Given the description of an element on the screen output the (x, y) to click on. 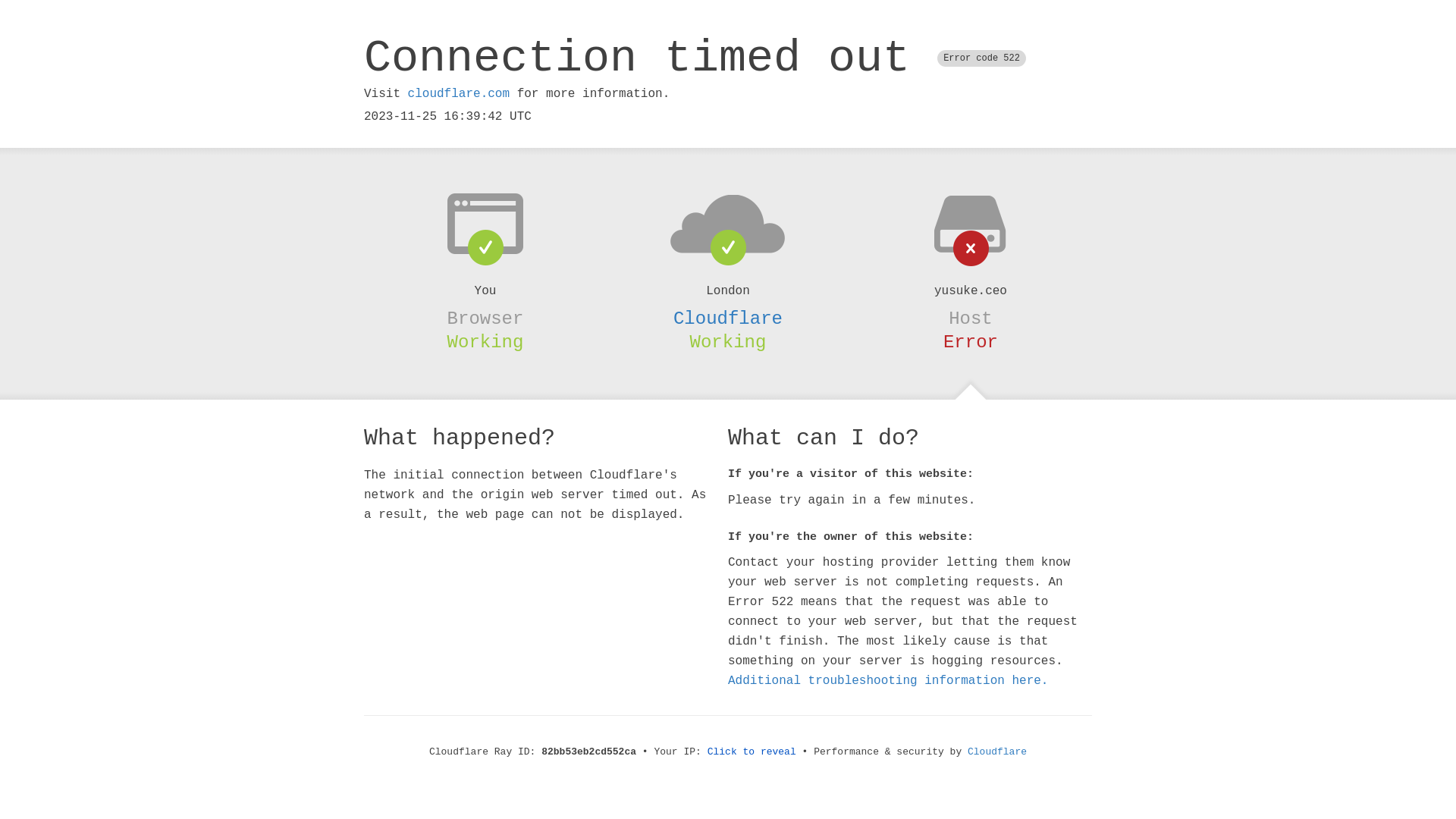
Cloudflare Element type: text (727, 318)
cloudflare.com Element type: text (458, 93)
Click to reveal Element type: text (751, 751)
Additional troubleshooting information here. Element type: text (888, 680)
Cloudflare Element type: text (996, 751)
